Given the description of an element on the screen output the (x, y) to click on. 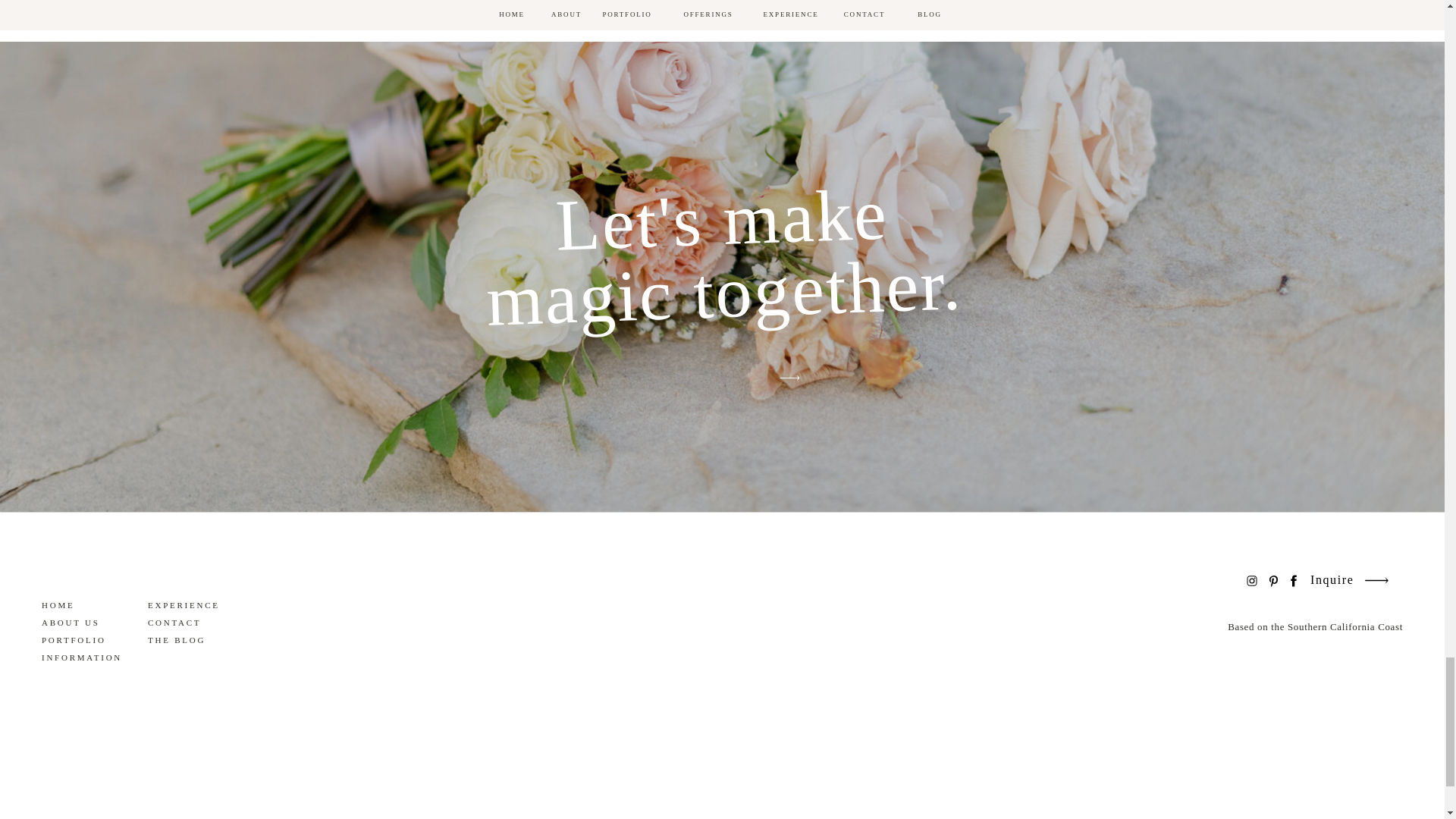
arrow (789, 377)
arrow (1376, 579)
